Given the description of an element on the screen output the (x, y) to click on. 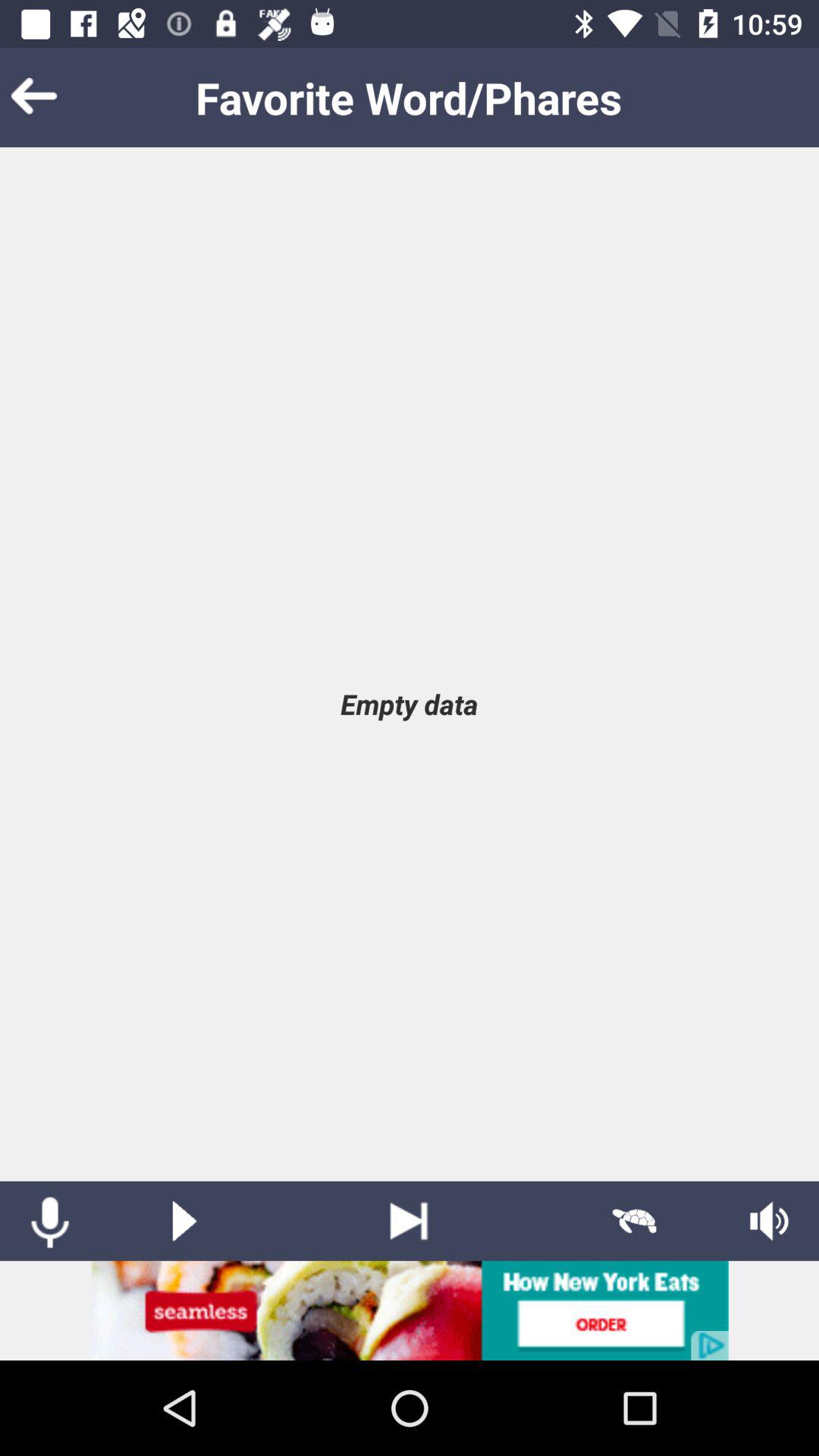
volume option (769, 1220)
